Given the description of an element on the screen output the (x, y) to click on. 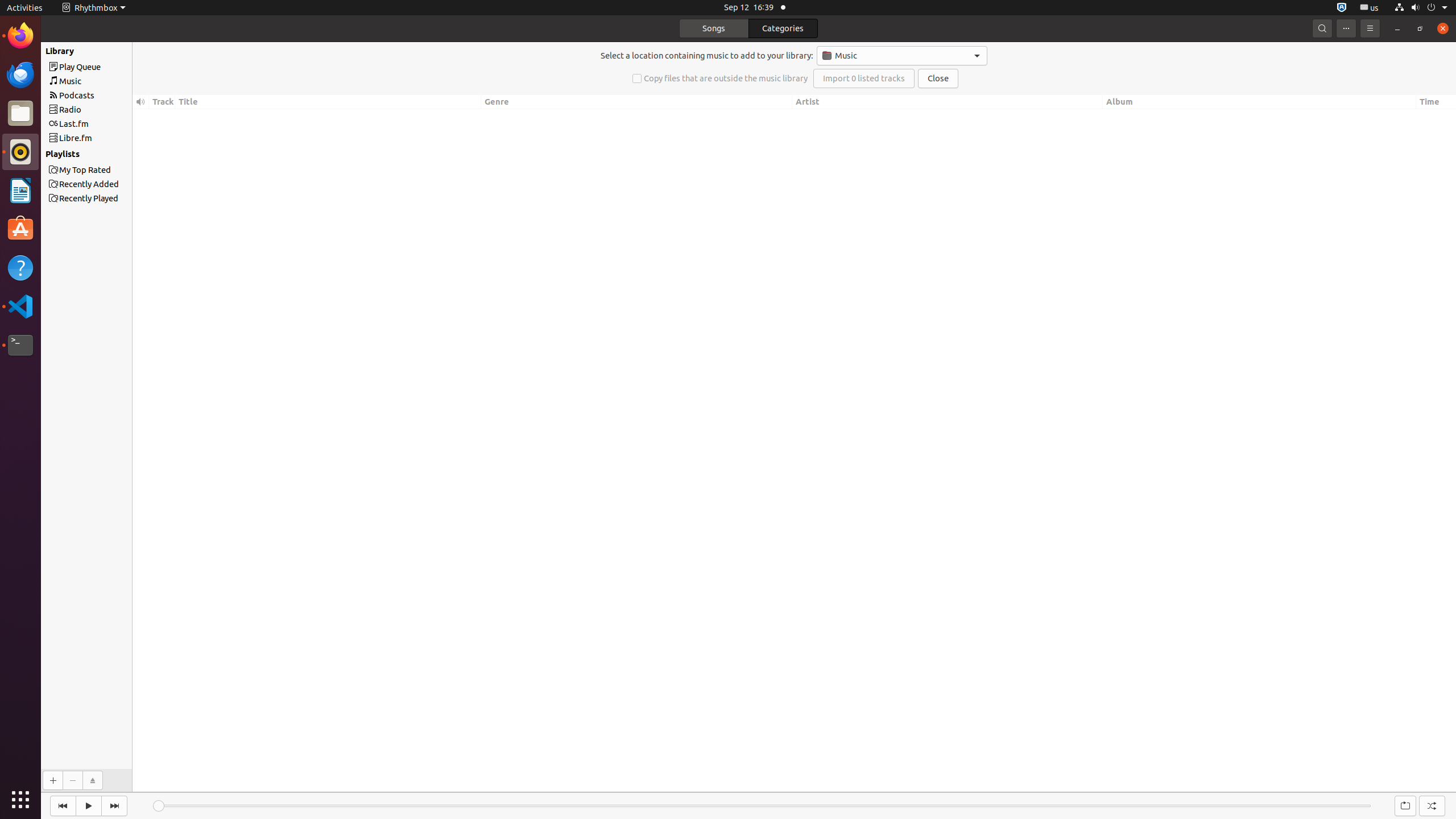
Podcasts Element type: table-cell (106, 94)
Title Element type: table-column-header (328, 101)
Track Element type: table-column-header (162, 101)
